Given the description of an element on the screen output the (x, y) to click on. 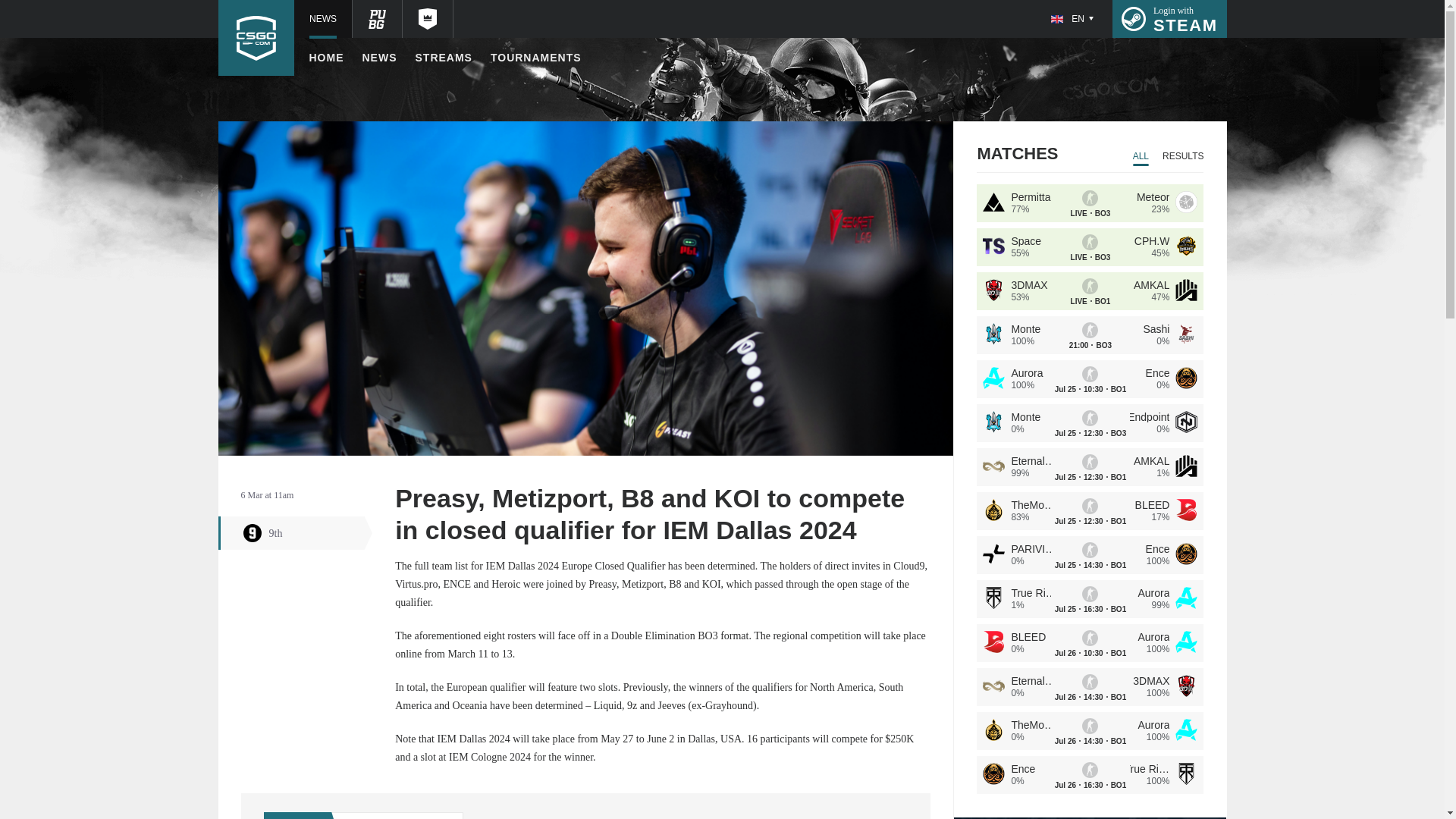
9th (1169, 18)
NEWS (295, 532)
TOURNAMENTS (379, 57)
HOME (535, 57)
STREAMS (325, 57)
